Given the description of an element on the screen output the (x, y) to click on. 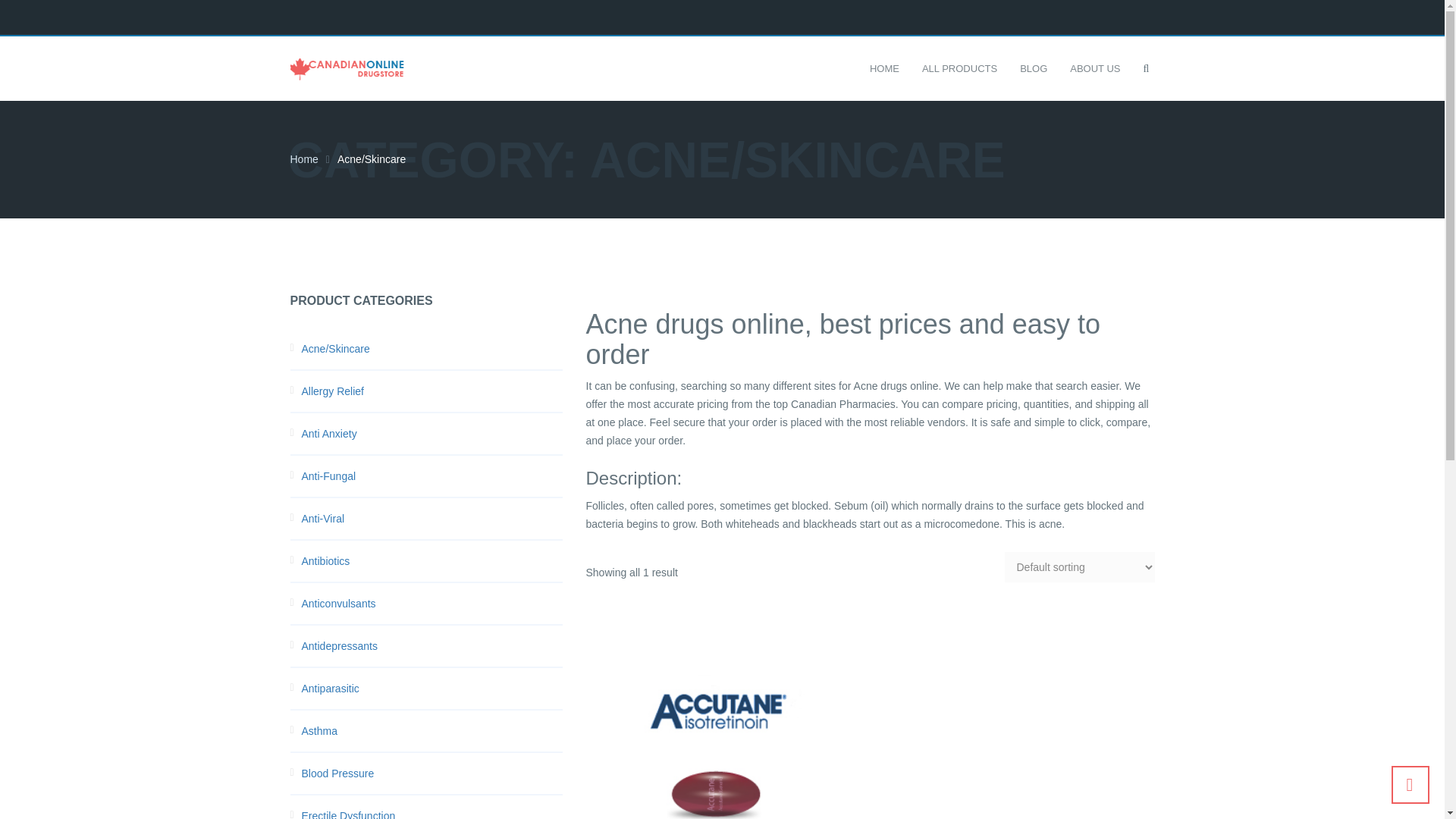
Antiparasitic (432, 688)
Anticonvulsants (432, 603)
ALL PRODUCTS (959, 68)
Erectile Dysfunction (432, 812)
Allergy Relief (432, 391)
Antibiotics (432, 561)
Anti-Fungal (432, 475)
Antidepressants (432, 646)
Anti-Viral (432, 518)
Asthma (432, 730)
ABOUT US (1094, 68)
BLOG (1033, 68)
Blood Pressure (432, 773)
HOME (884, 68)
Anti Anxiety (432, 434)
